Given the description of an element on the screen output the (x, y) to click on. 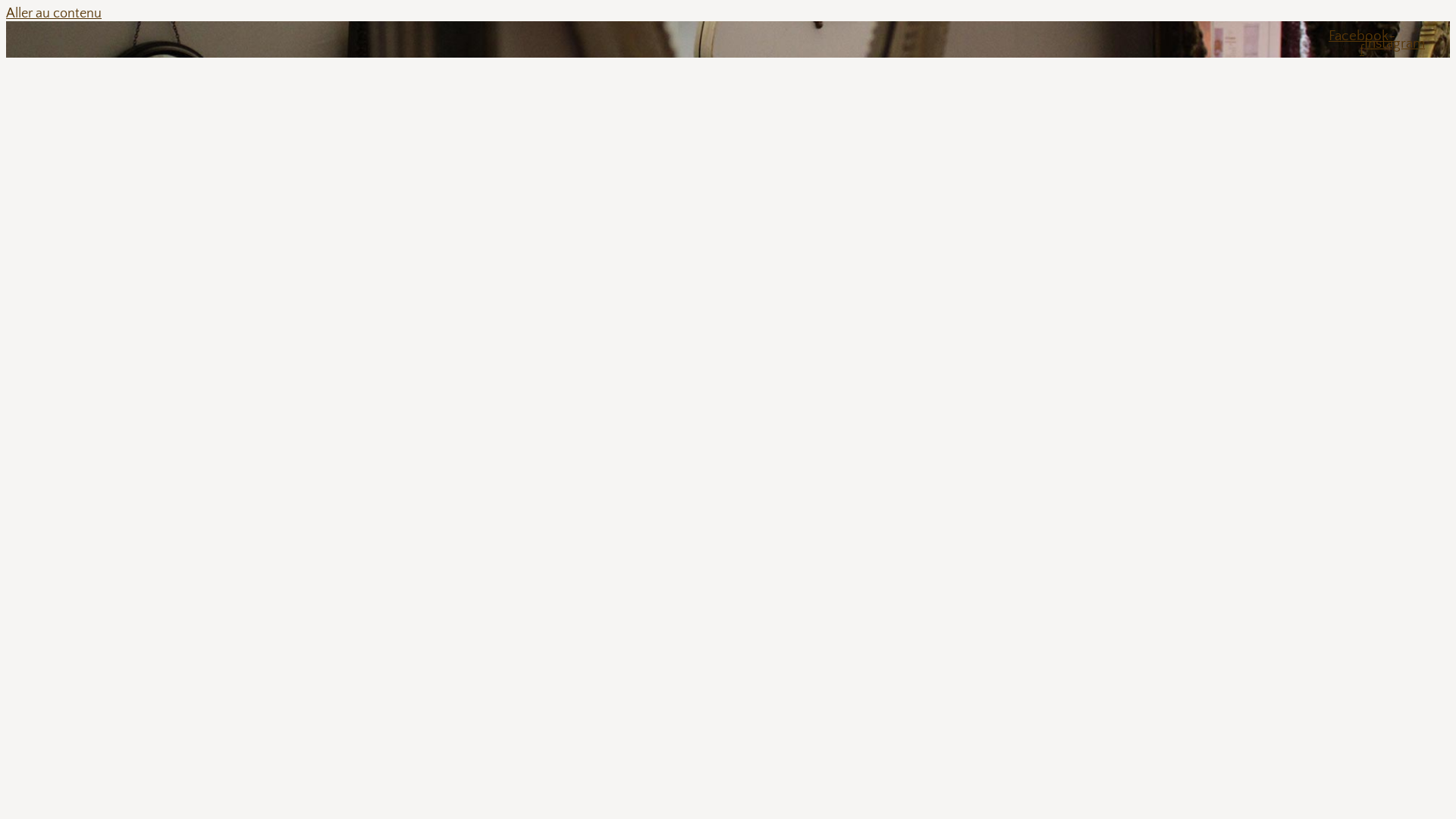
Facebook-f Element type: text (1361, 42)
Aller au contenu Element type: text (53, 13)
Instagram Element type: text (1394, 42)
